Given the description of an element on the screen output the (x, y) to click on. 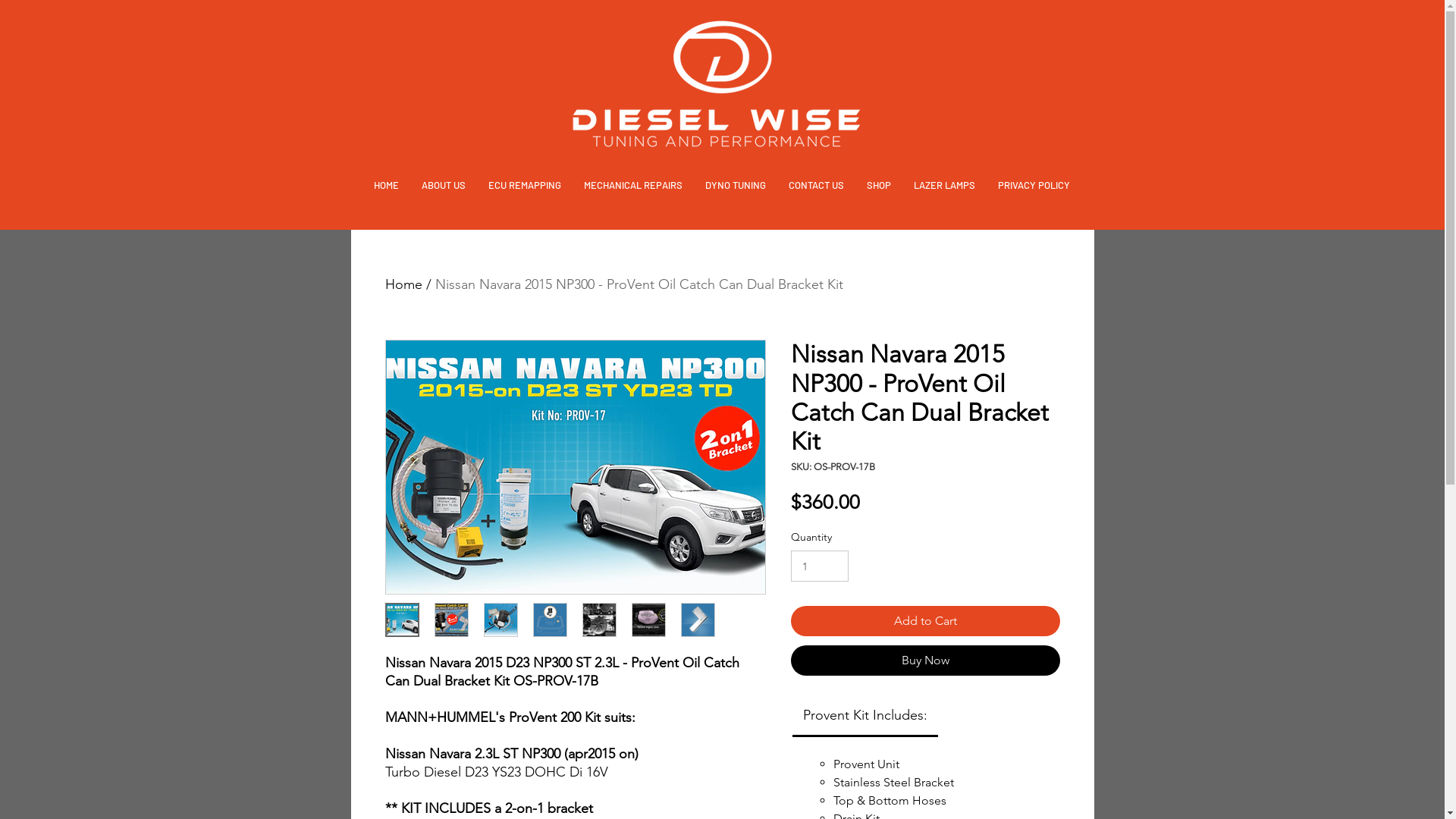
Buy Now Element type: text (924, 660)
CONTACT US Element type: text (816, 185)
SHOP Element type: text (878, 185)
MECHANICAL REPAIRS Element type: text (632, 185)
LAZER LAMPS Element type: text (944, 185)
Add to Cart Element type: text (924, 620)
ABOUT US Element type: text (443, 185)
DYNO TUNING Element type: text (735, 185)
PRIVACY POLICY Element type: text (1033, 185)
HOME Element type: text (386, 185)
Home Element type: text (403, 284)
ECU REMAPPING Element type: text (524, 185)
